Given the description of an element on the screen output the (x, y) to click on. 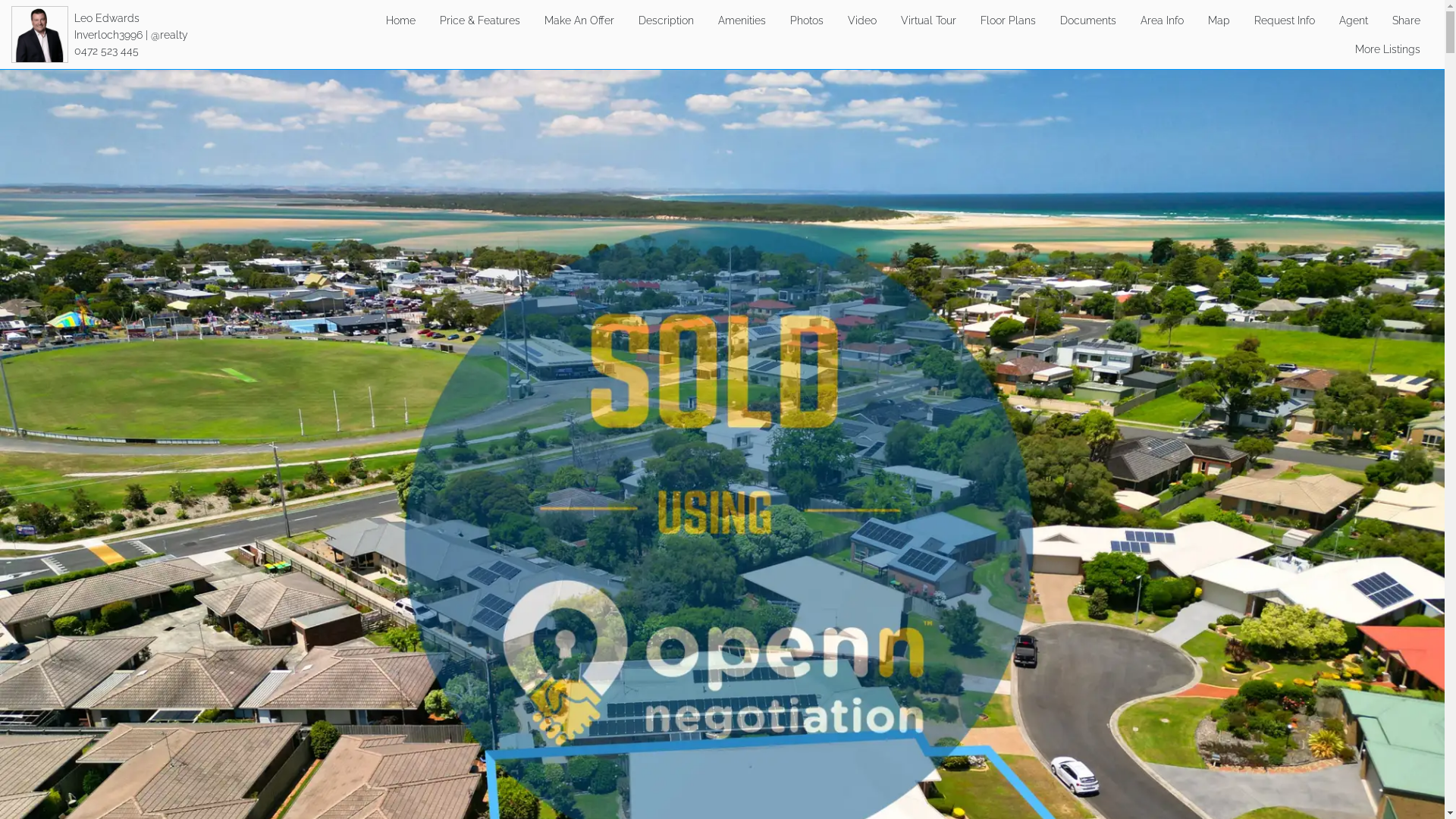
Photos Element type: text (806, 20)
Make An Offer Element type: text (579, 20)
Area Info Element type: text (1161, 20)
Virtual Tour Element type: text (928, 20)
More Listings Element type: text (1387, 48)
0472 523 445 Element type: text (106, 49)
Price & Features Element type: text (479, 20)
Agent Element type: text (1353, 20)
Amenities Element type: text (742, 20)
Map Element type: text (1218, 20)
Documents Element type: text (1088, 20)
Video Element type: text (861, 20)
Request Info Element type: text (1284, 20)
Description Element type: text (666, 20)
Share Element type: text (1406, 20)
Home Element type: text (400, 20)
Floor Plans Element type: text (1008, 20)
